Given the description of an element on the screen output the (x, y) to click on. 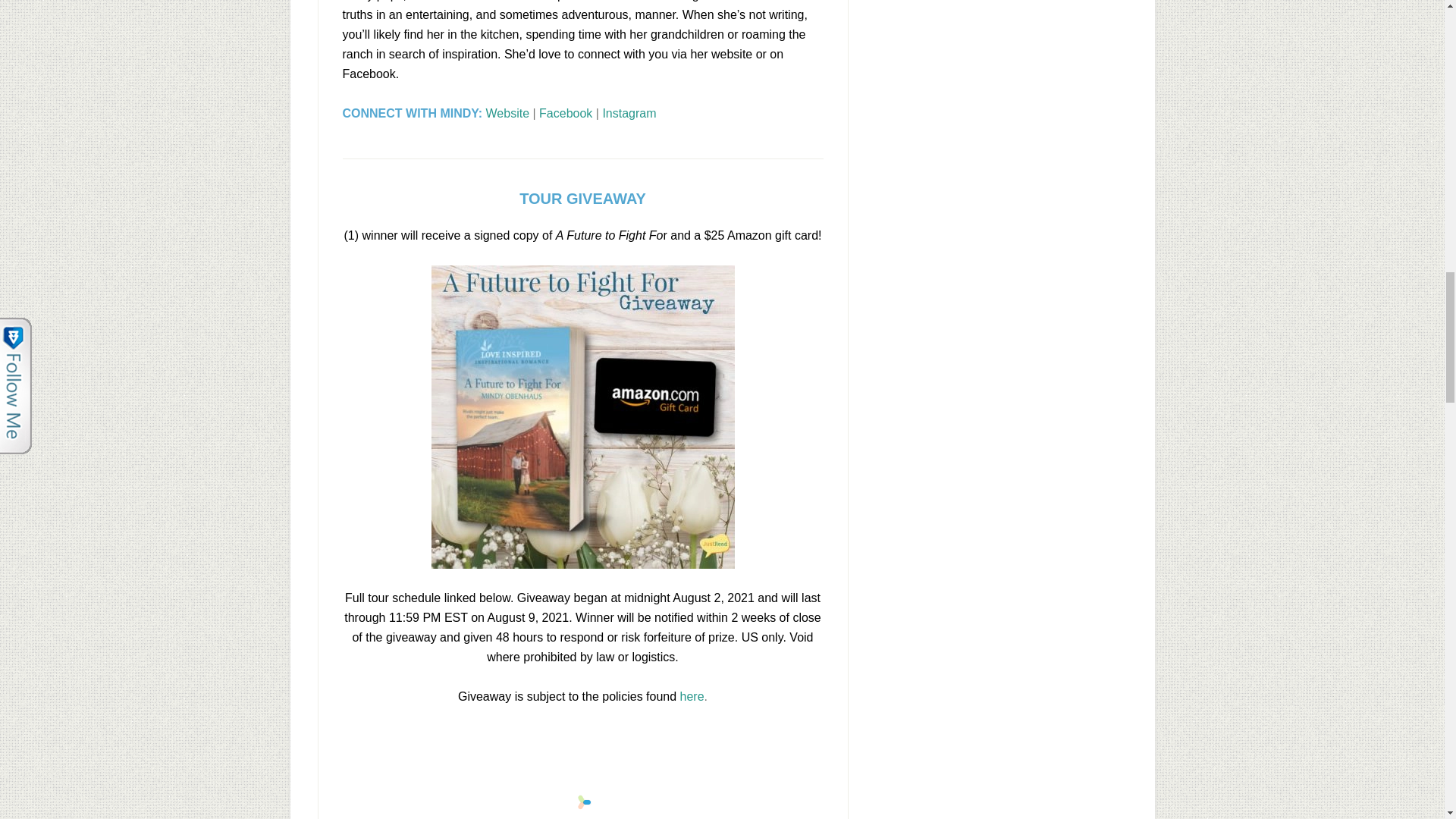
Website (507, 113)
Instagram (629, 113)
Facebook (565, 113)
here (691, 696)
